Given the description of an element on the screen output the (x, y) to click on. 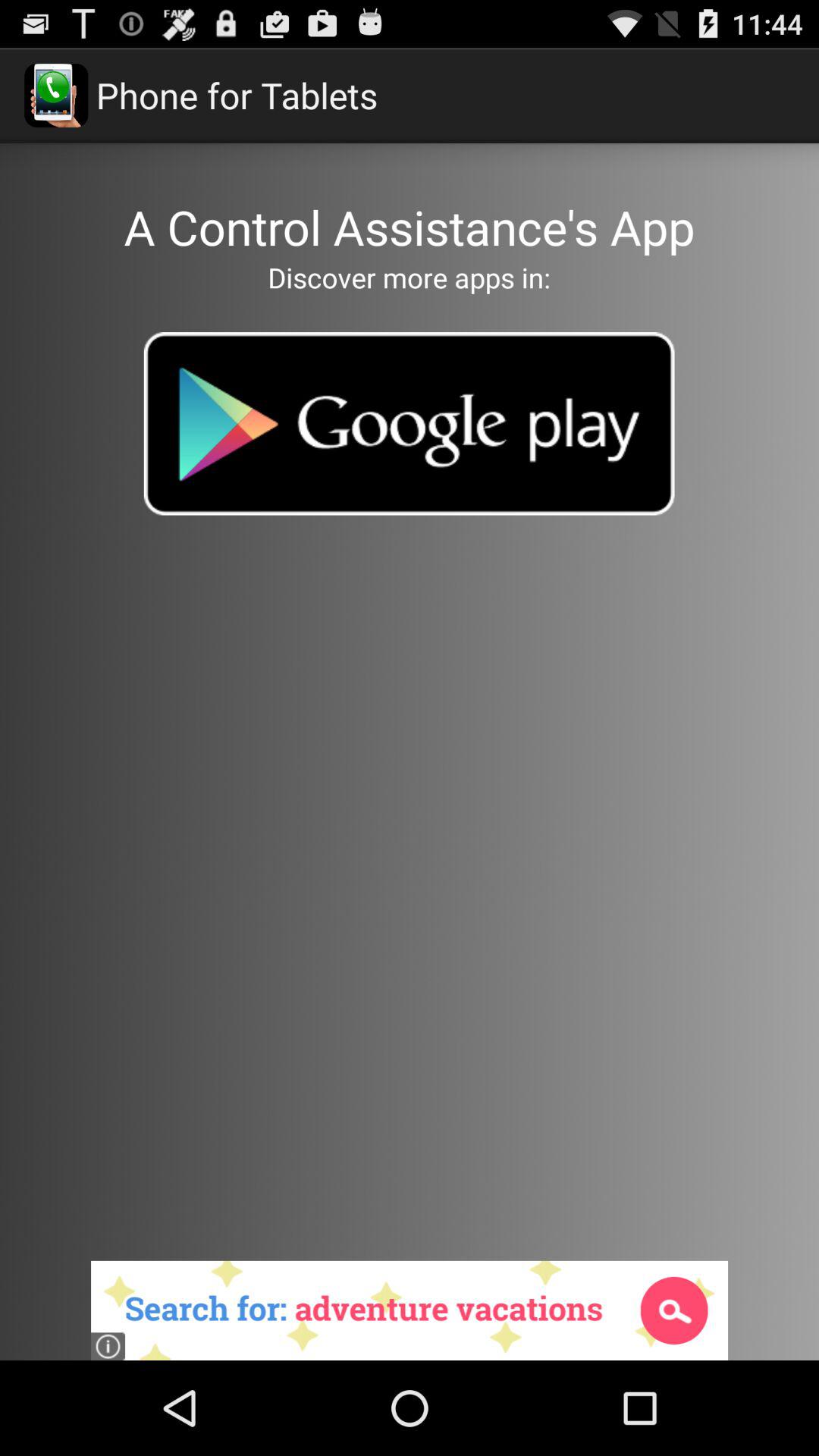
press the item at the bottom (409, 1310)
